Given the description of an element on the screen output the (x, y) to click on. 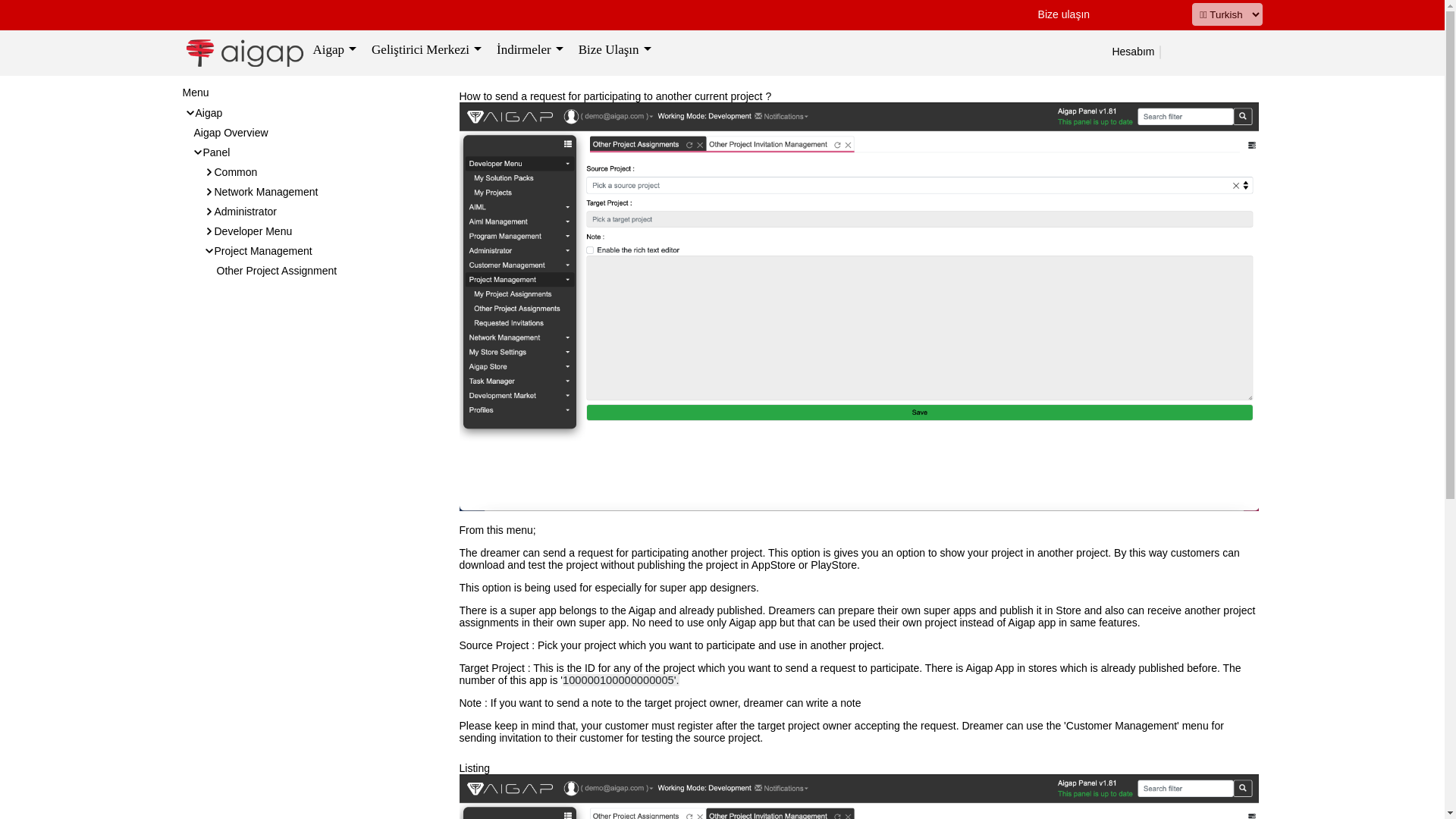
Aigap Overview (230, 132)
Aigap (208, 112)
Aigap (334, 51)
Panel (216, 152)
Common (235, 172)
